Given the description of an element on the screen output the (x, y) to click on. 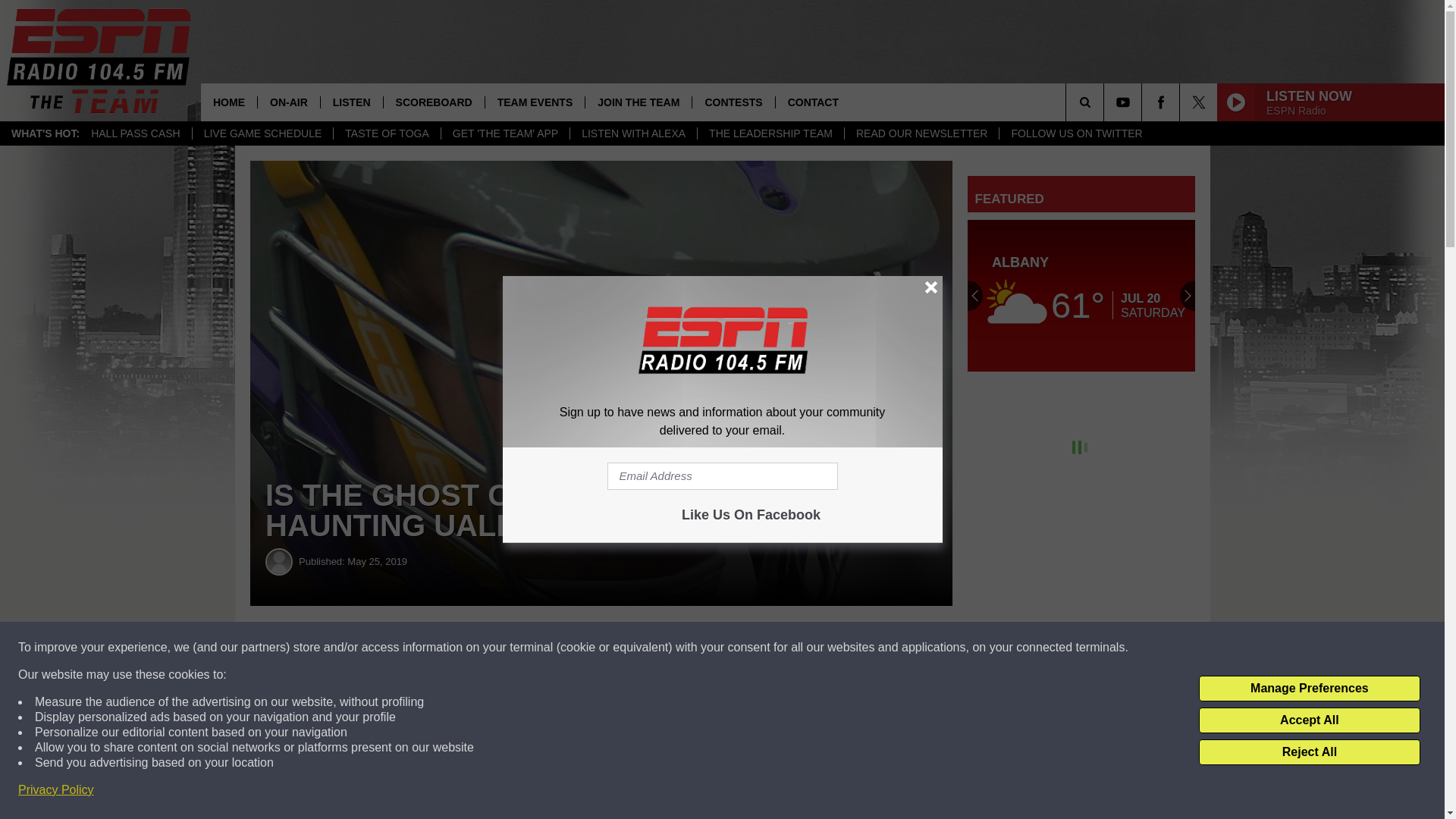
Privacy Policy (55, 789)
JOIN THE TEAM (638, 102)
Share on Facebook (460, 647)
READ OUR NEWSLETTER (921, 133)
Email Address (722, 475)
GET 'THE TEAM' APP (505, 133)
LISTEN (351, 102)
SEARCH (1106, 102)
THE LEADERSHIP TEAM (770, 133)
LIVE GAME SCHEDULE (262, 133)
Manage Preferences (1309, 688)
Reject All (1309, 751)
TASTE OF TOGA (386, 133)
ON-AIR (288, 102)
Albany Weather (1081, 295)
